Given the description of an element on the screen output the (x, y) to click on. 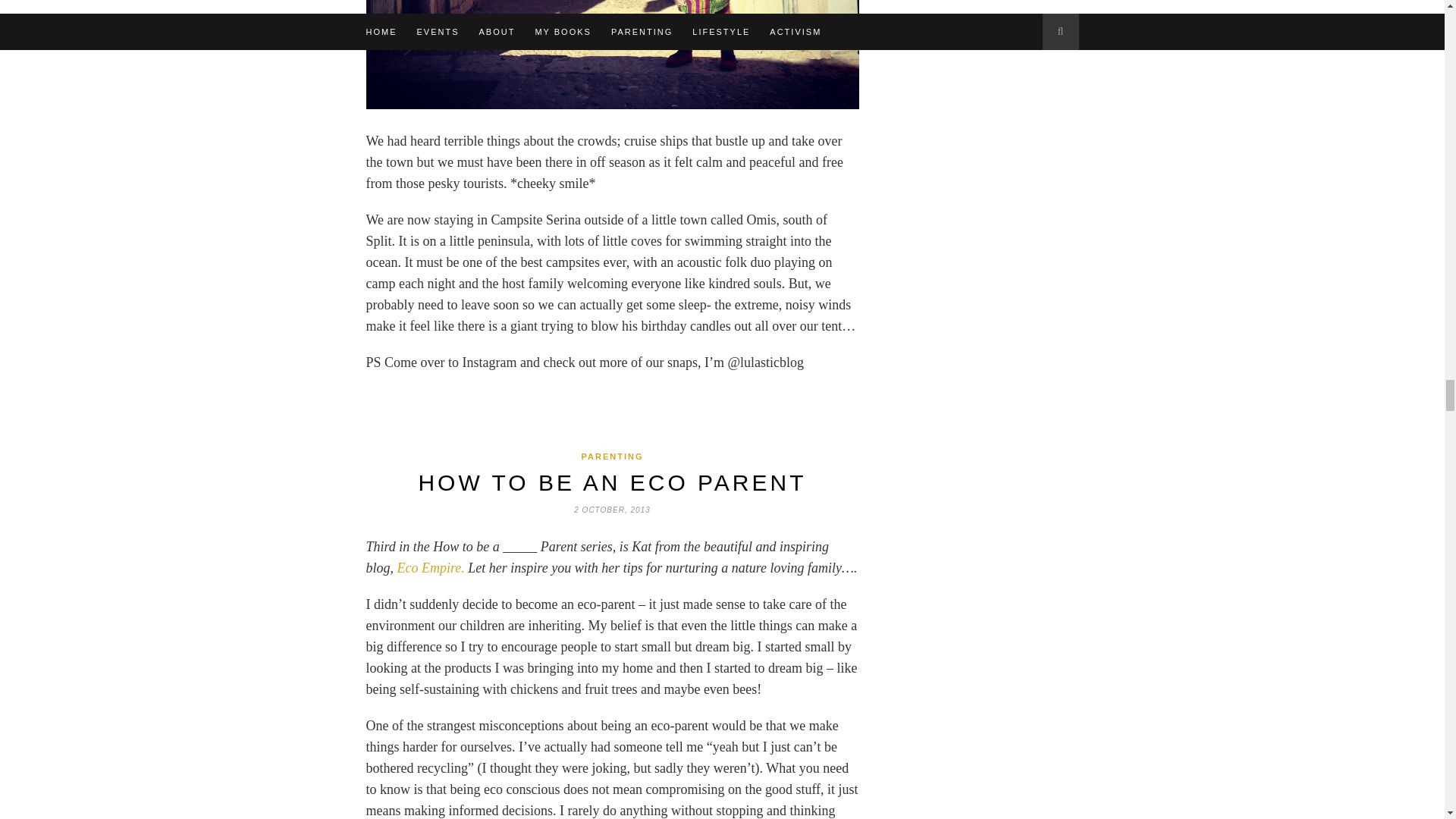
View all posts in Parenting (611, 456)
